Given the description of an element on the screen output the (x, y) to click on. 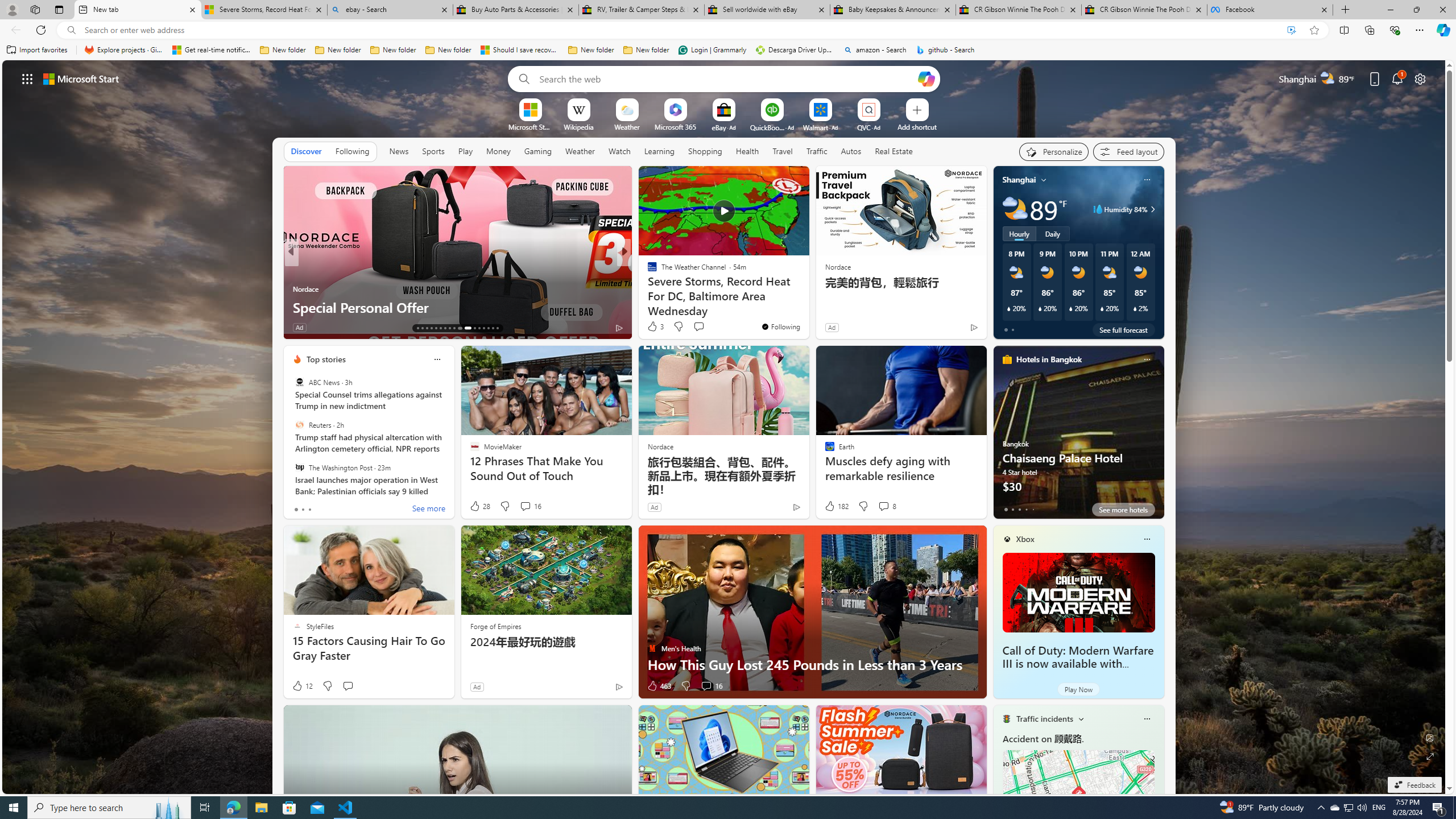
Traffic incidents (1044, 718)
Dailymotion (647, 288)
Personal Profile (12, 9)
Open Copilot (925, 78)
28 Like (479, 505)
Class: icon-img (1146, 718)
Autos (850, 151)
AutomationID: tab-29 (497, 328)
Top stories (325, 359)
Weather (579, 151)
Address and search bar (680, 29)
12 Like (301, 685)
Sports (432, 151)
